Given the description of an element on the screen output the (x, y) to click on. 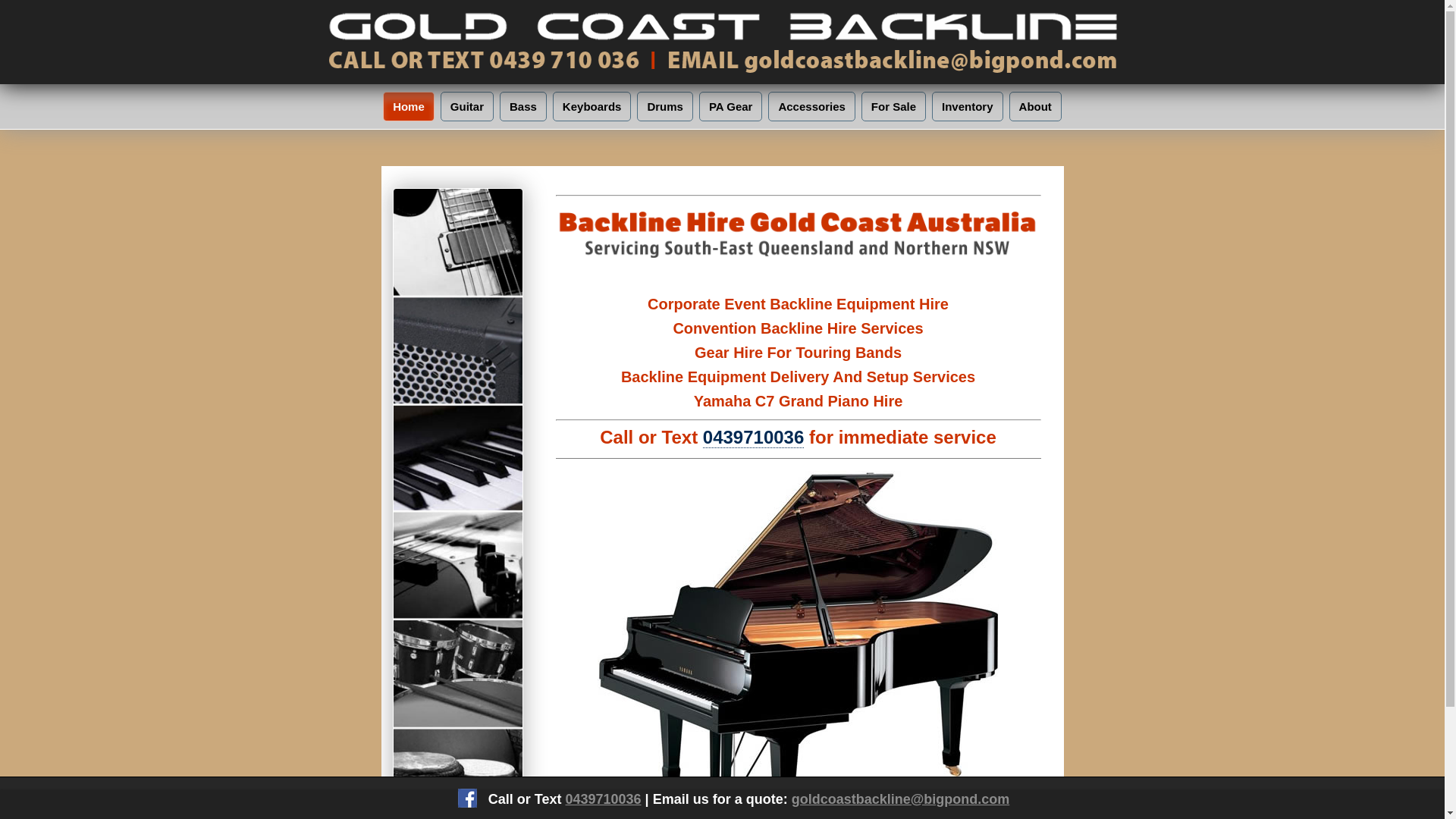
Guitar Element type: text (466, 106)
About Element type: text (1035, 106)
Accessories Element type: text (811, 106)
Inventory Element type: text (967, 106)
0439710036 Element type: text (752, 437)
0439710036 Element type: text (602, 798)
Bass Element type: text (522, 106)
Home Element type: text (408, 106)
For Sale Element type: text (893, 106)
goldcoastbackline@bigpond.com Element type: text (900, 798)
Keyboards Element type: text (591, 106)
PA Gear Element type: text (730, 106)
Drums Element type: text (665, 106)
